Given the description of an element on the screen output the (x, y) to click on. 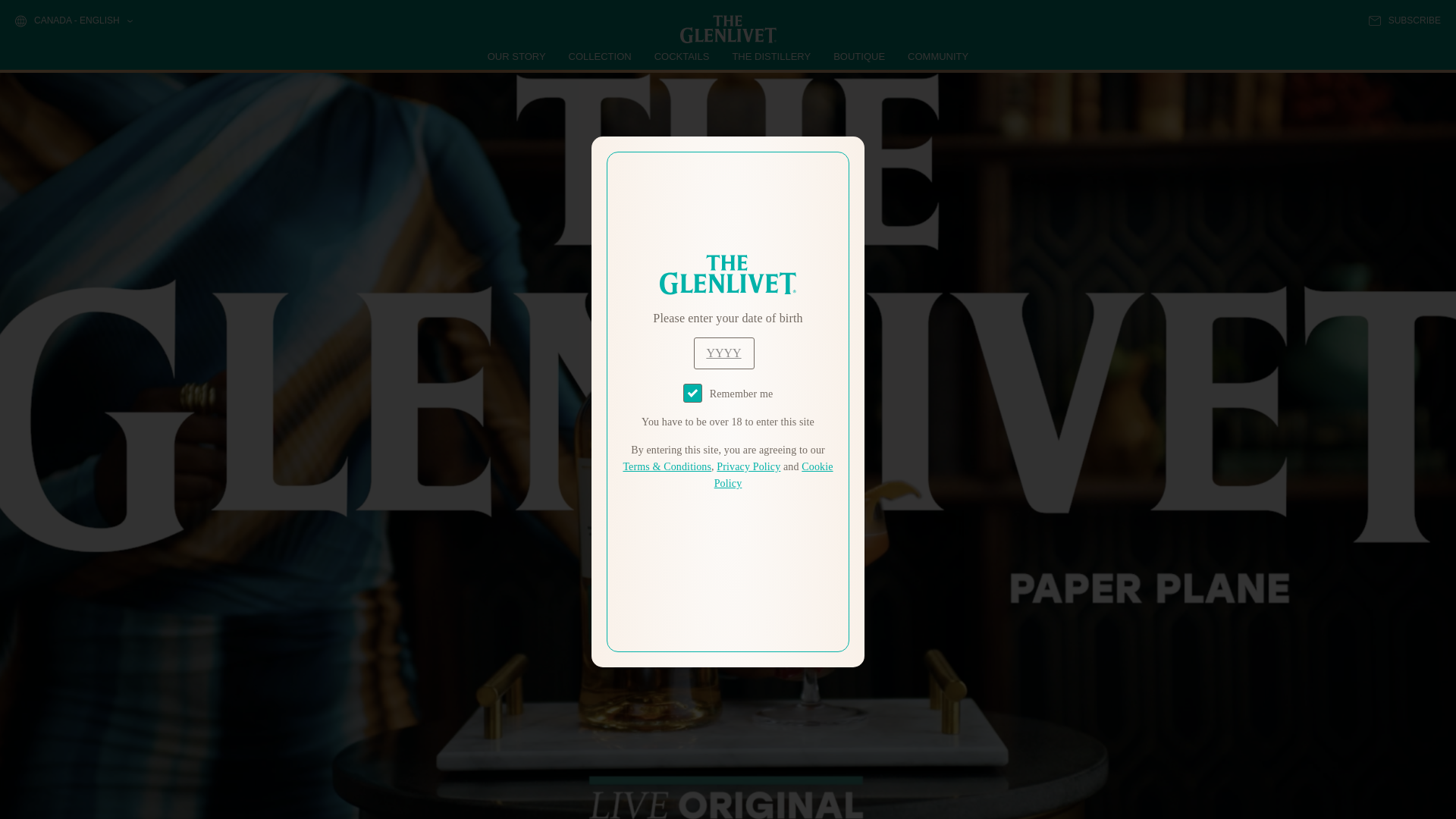
COMMUNITY (937, 56)
Privacy Policy (748, 466)
SUBSCRIBE (1404, 20)
CANADA - ENGLISH (73, 21)
COLLECTION (600, 56)
THE DISTILLERY (771, 56)
Cookie Policy (773, 474)
OUR STORY (516, 56)
year (723, 353)
BOUTIQUE (858, 56)
COCKTAILS (681, 56)
